Given the description of an element on the screen output the (x, y) to click on. 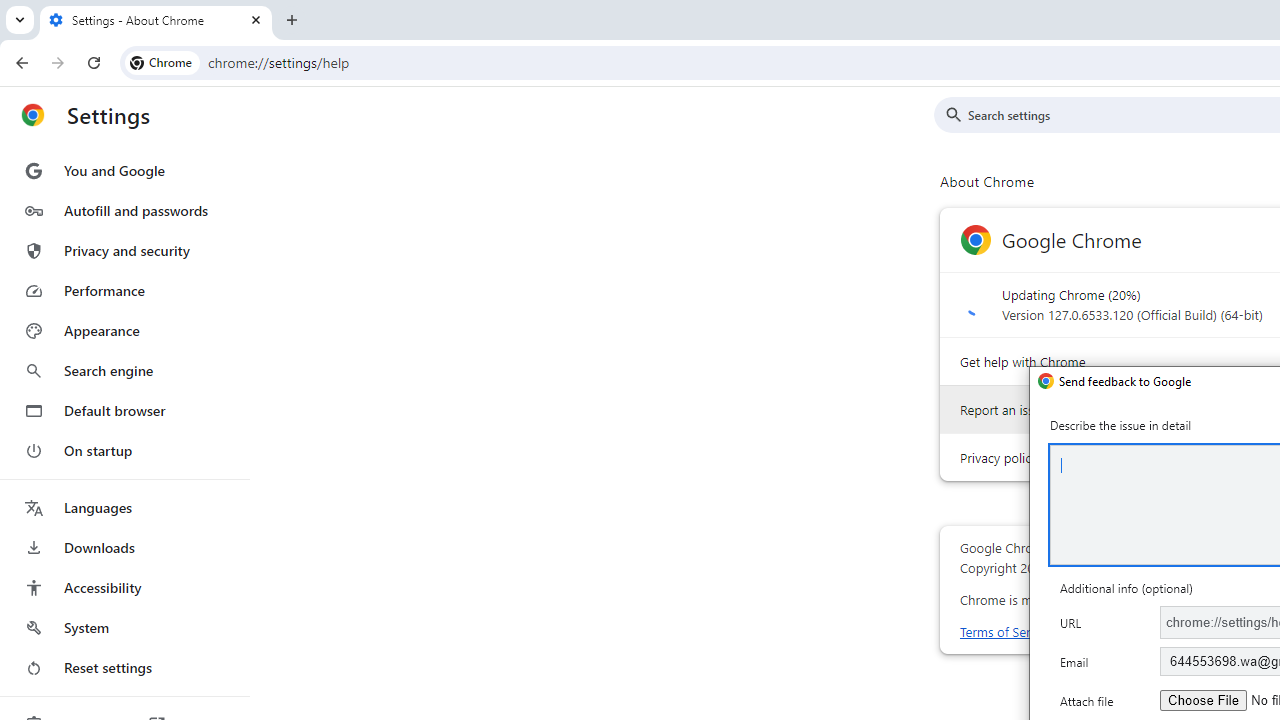
Languages (124, 507)
Performance (124, 290)
Autofill and passwords (124, 210)
Appearance (124, 331)
Default browser (124, 410)
Reset settings (124, 668)
Accessibility (124, 587)
